Given the description of an element on the screen output the (x, y) to click on. 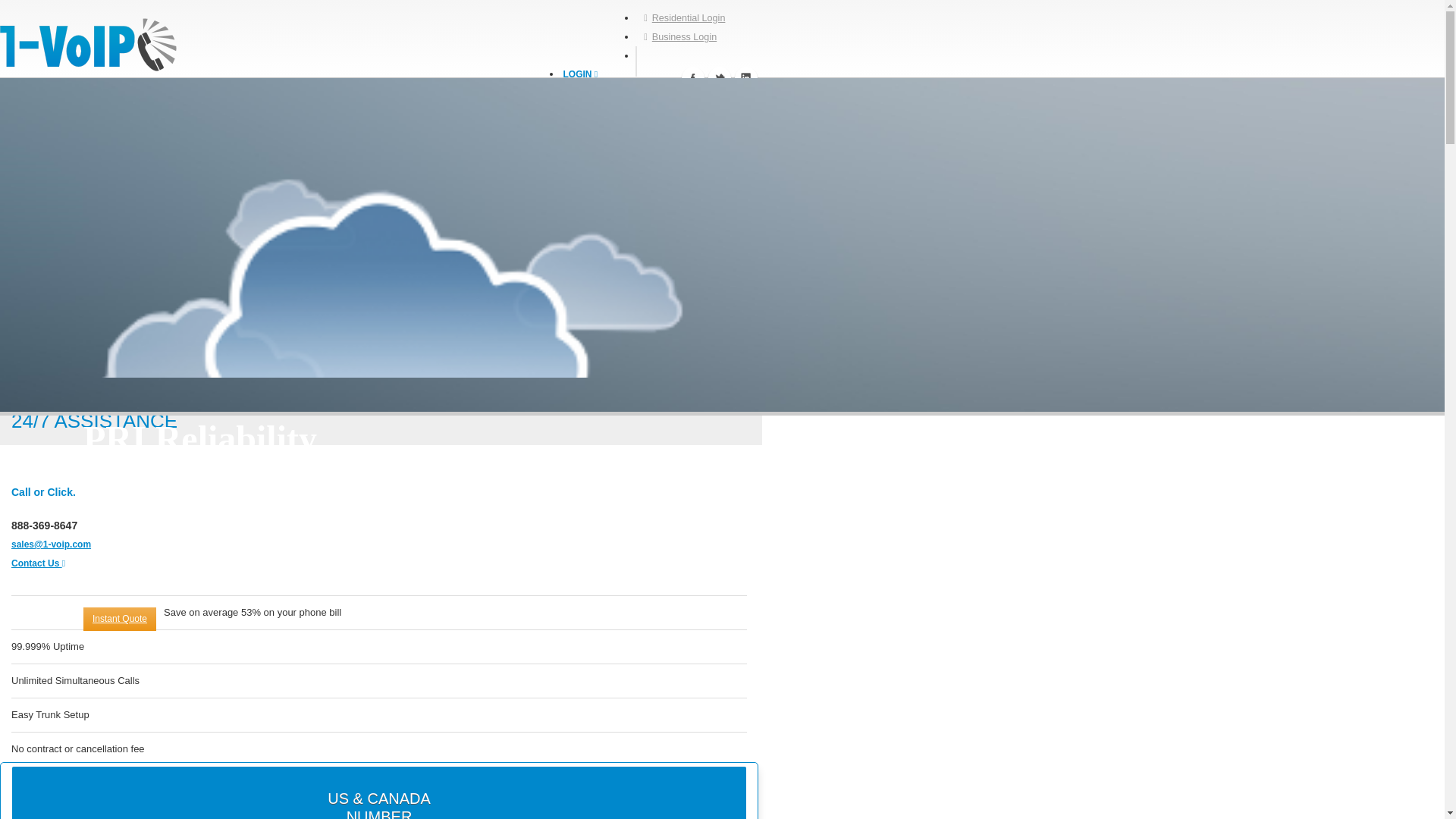
International Rates (615, 274)
Twitter (718, 77)
SIP TRUNKING (591, 154)
LOGIN (579, 73)
Instant Quote (118, 618)
Contact Us (38, 562)
BUSINESS VOIP (594, 136)
Residential Login (684, 17)
Facebook (692, 77)
CONTACT US (588, 303)
VoIP FAQ (615, 249)
RESOURCES (591, 191)
RESIDENTIAL (589, 173)
Business Login (607, 115)
Twitter (718, 77)
